Given the description of an element on the screen output the (x, y) to click on. 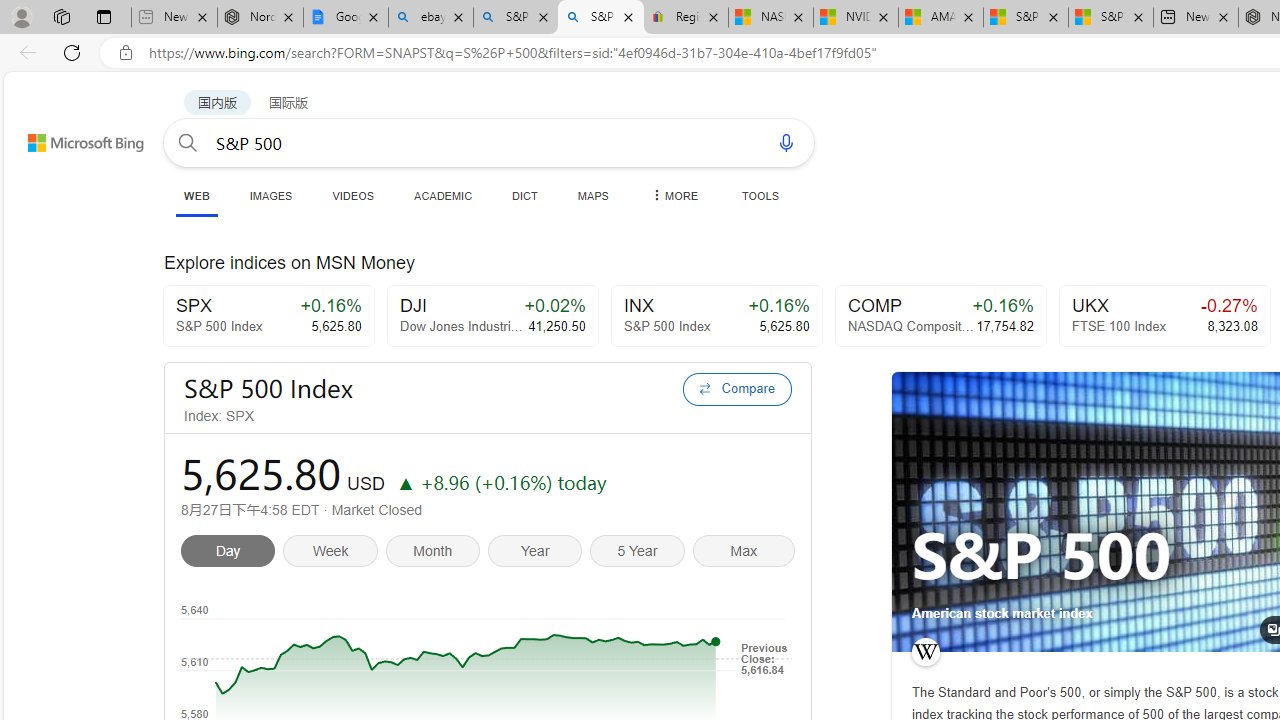
Search button (187, 142)
TOOLS (760, 195)
ACADEMIC (443, 195)
Skip to content (63, 133)
DJI +0.02% Dow Jones Industrial Average Index 41,250.50 (492, 315)
SPX +0.16% S&P 500 Index 5,625.80 (268, 315)
Year (538, 553)
Max (743, 553)
MAPS (592, 195)
DICT (525, 195)
Back to Bing search (73, 138)
